Given the description of an element on the screen output the (x, y) to click on. 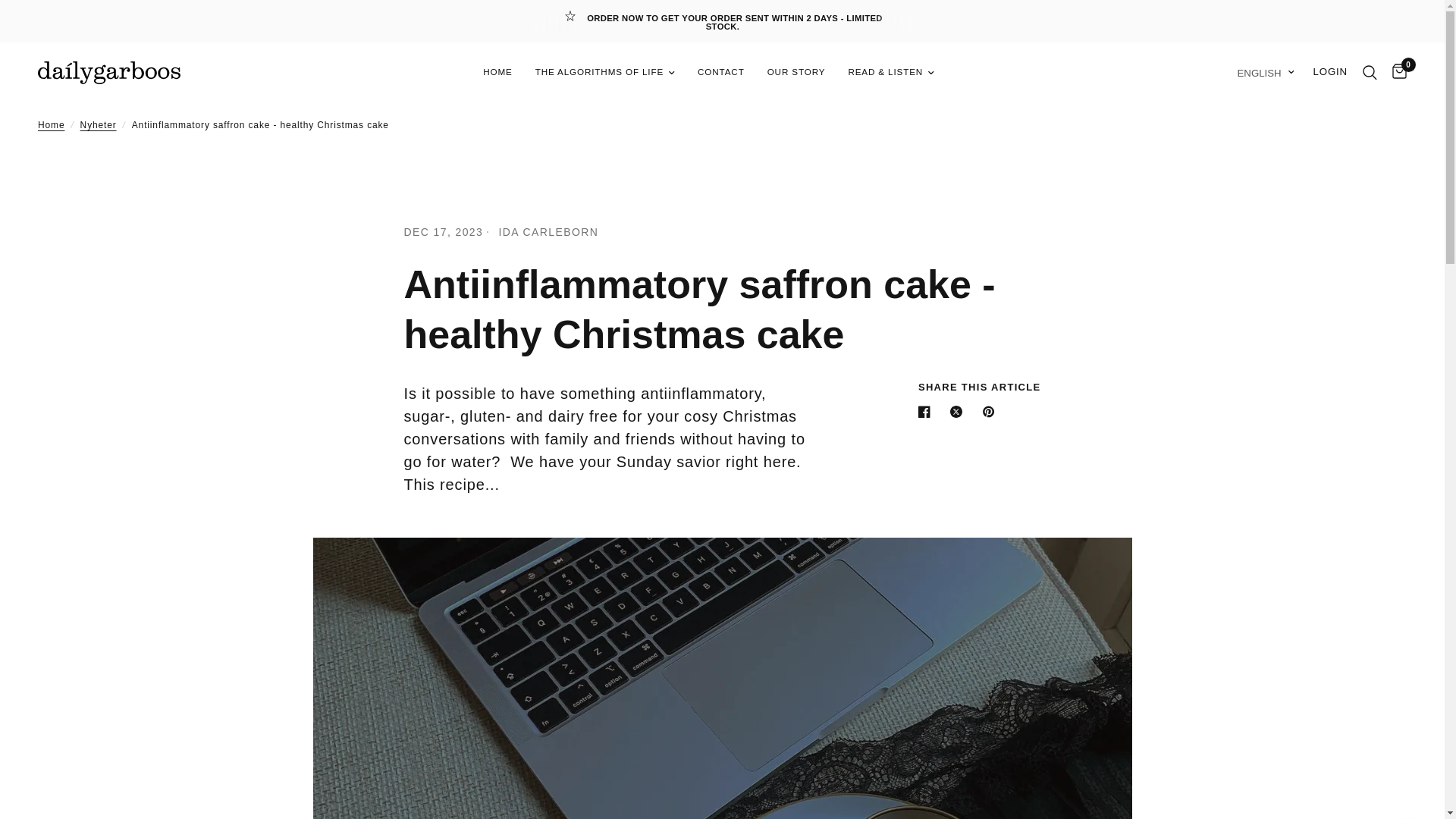
THE ALGORITHMS OF LIFE (605, 72)
OUR STORY (796, 72)
CONTACT (720, 72)
CONTACT (720, 72)
HOME (497, 72)
HOME (497, 72)
THE ALGORITHMS OF LIFE (605, 72)
